Given the description of an element on the screen output the (x, y) to click on. 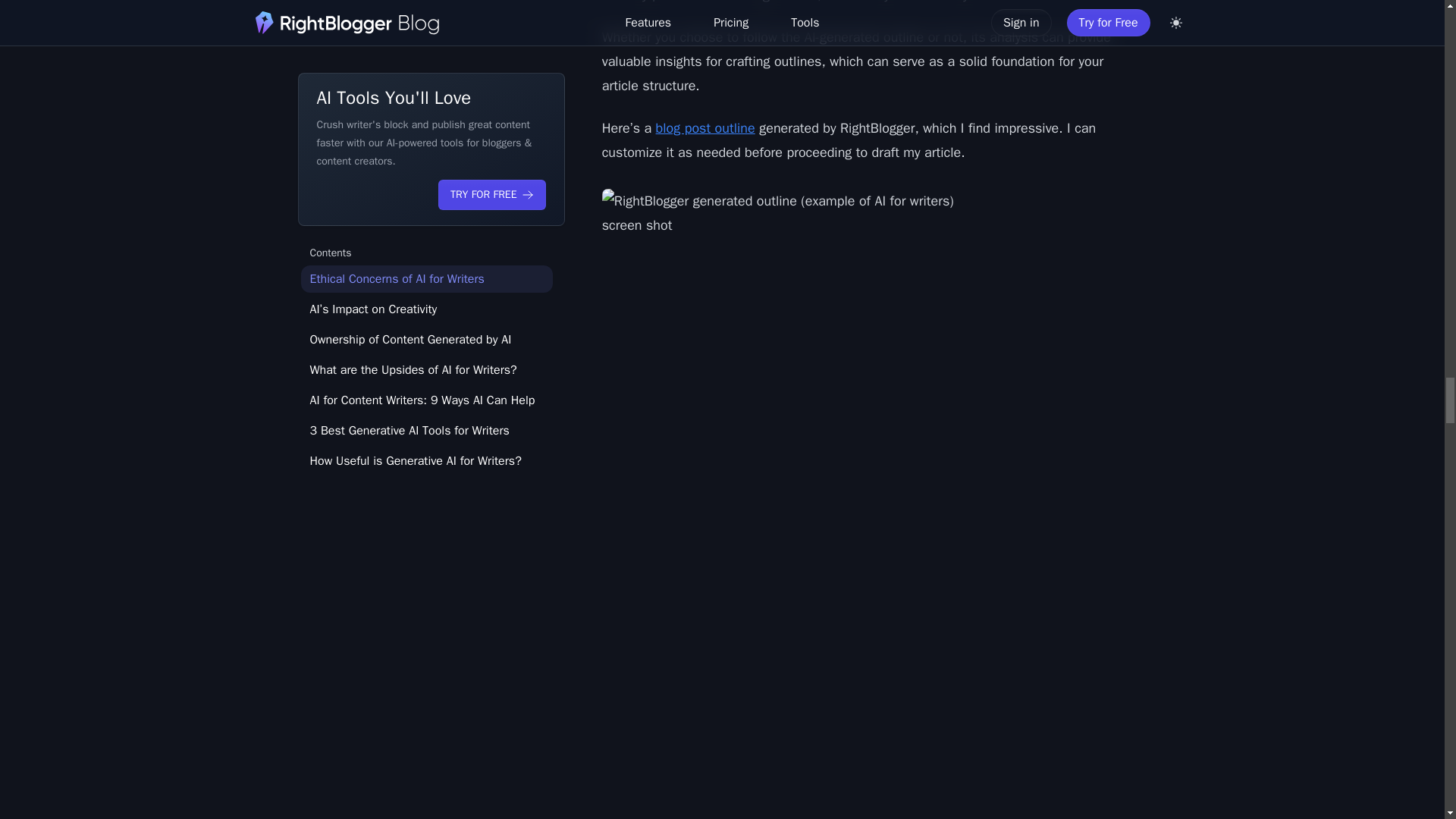
blog post outline (705, 127)
